Given the description of an element on the screen output the (x, y) to click on. 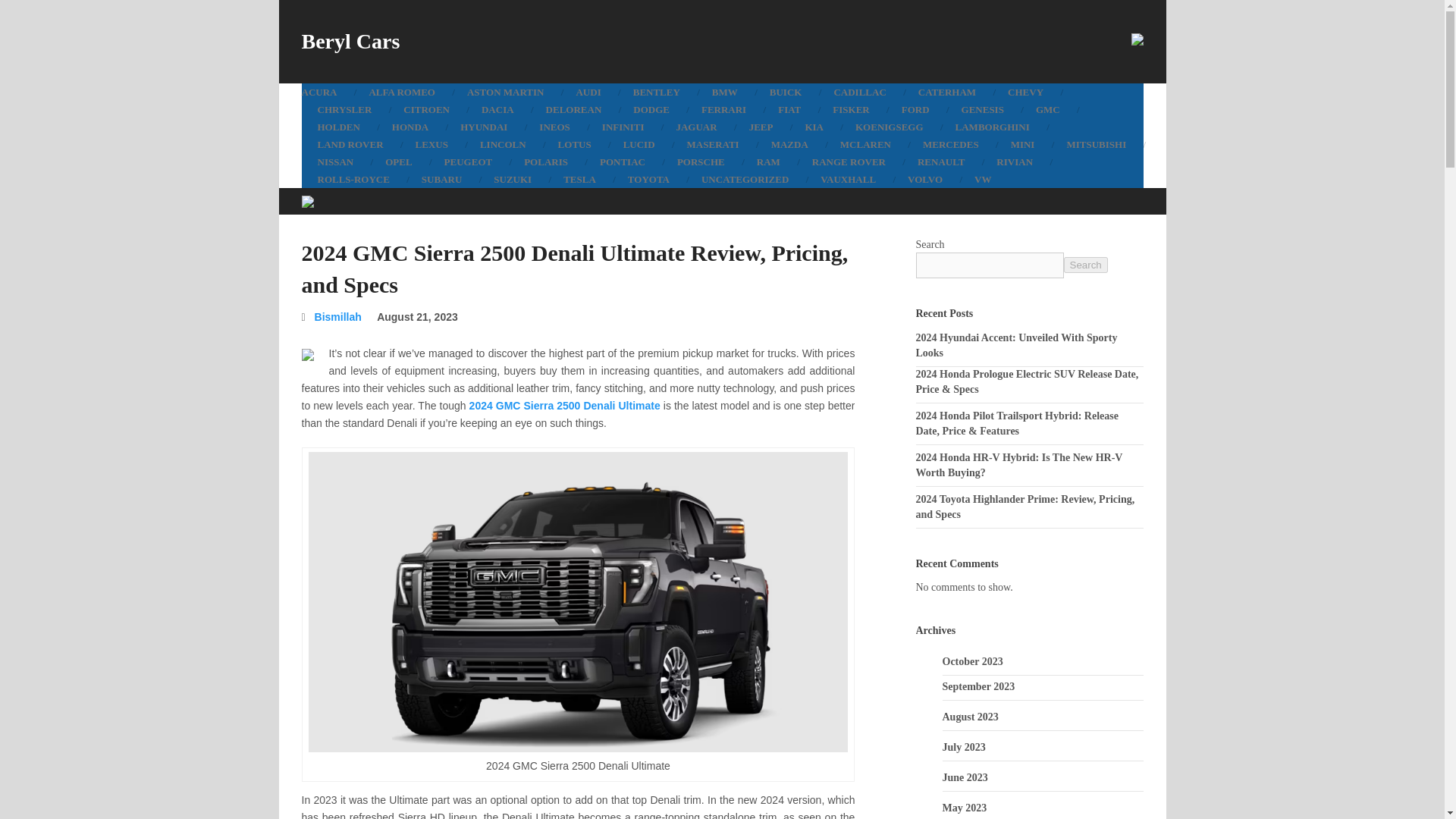
LAND ROVER (349, 144)
JEEP (761, 126)
LAMBORGHINI (992, 126)
ALFA ROMEO (401, 91)
LINCOLN (502, 144)
KOENIGSEGG (889, 126)
GENESIS (982, 108)
LEXUS (431, 144)
GMC (1047, 108)
HOLDEN (338, 126)
INFINITI (623, 126)
LOTUS (574, 144)
FISKER (850, 108)
DELOREAN (573, 108)
CHEVY (1025, 91)
